Given the description of an element on the screen output the (x, y) to click on. 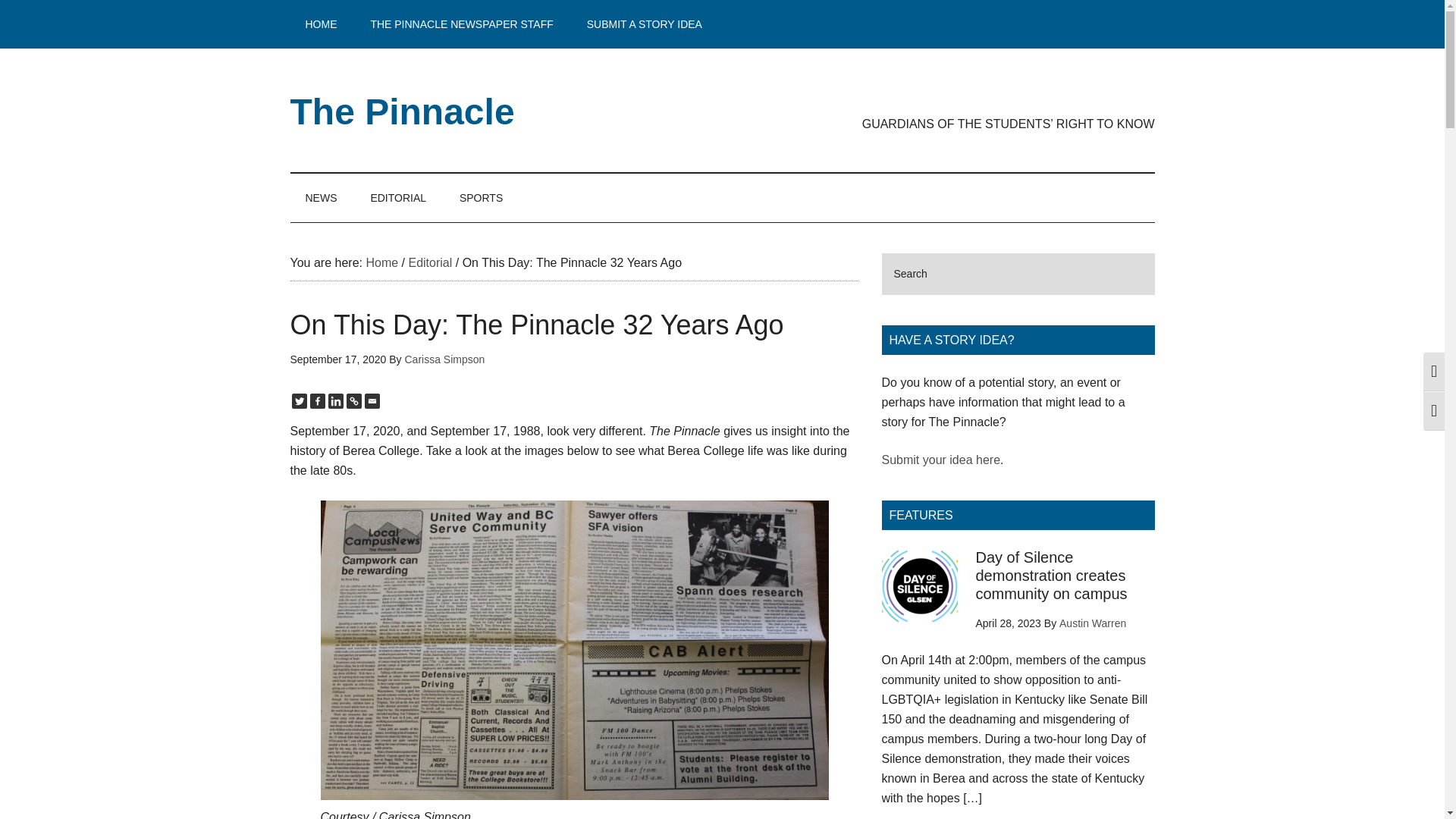
THE PINNACLE NEWSPAPER STAFF (461, 24)
EDITORIAL (398, 197)
HOME (320, 24)
NEWS (320, 197)
Carissa Simpson (444, 358)
SUBMIT A STORY IDEA (644, 24)
The Pinnacle (401, 111)
Home (381, 262)
Austin Warren (1092, 623)
Day of Silence demonstration creates community on campus (1050, 574)
Editorial (429, 262)
SPORTS (481, 197)
